Given the description of an element on the screen output the (x, y) to click on. 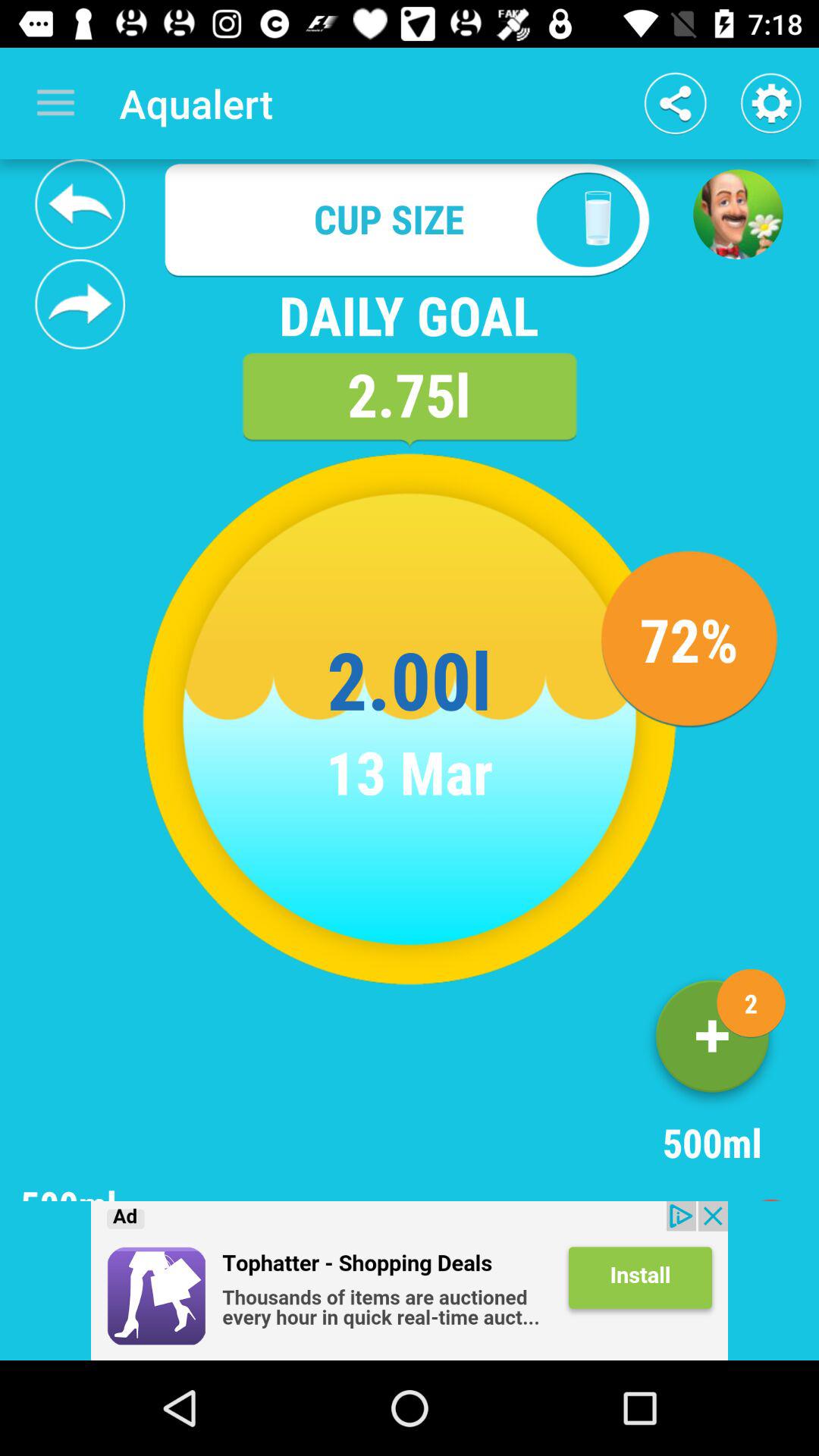
forward (80, 304)
